Given the description of an element on the screen output the (x, y) to click on. 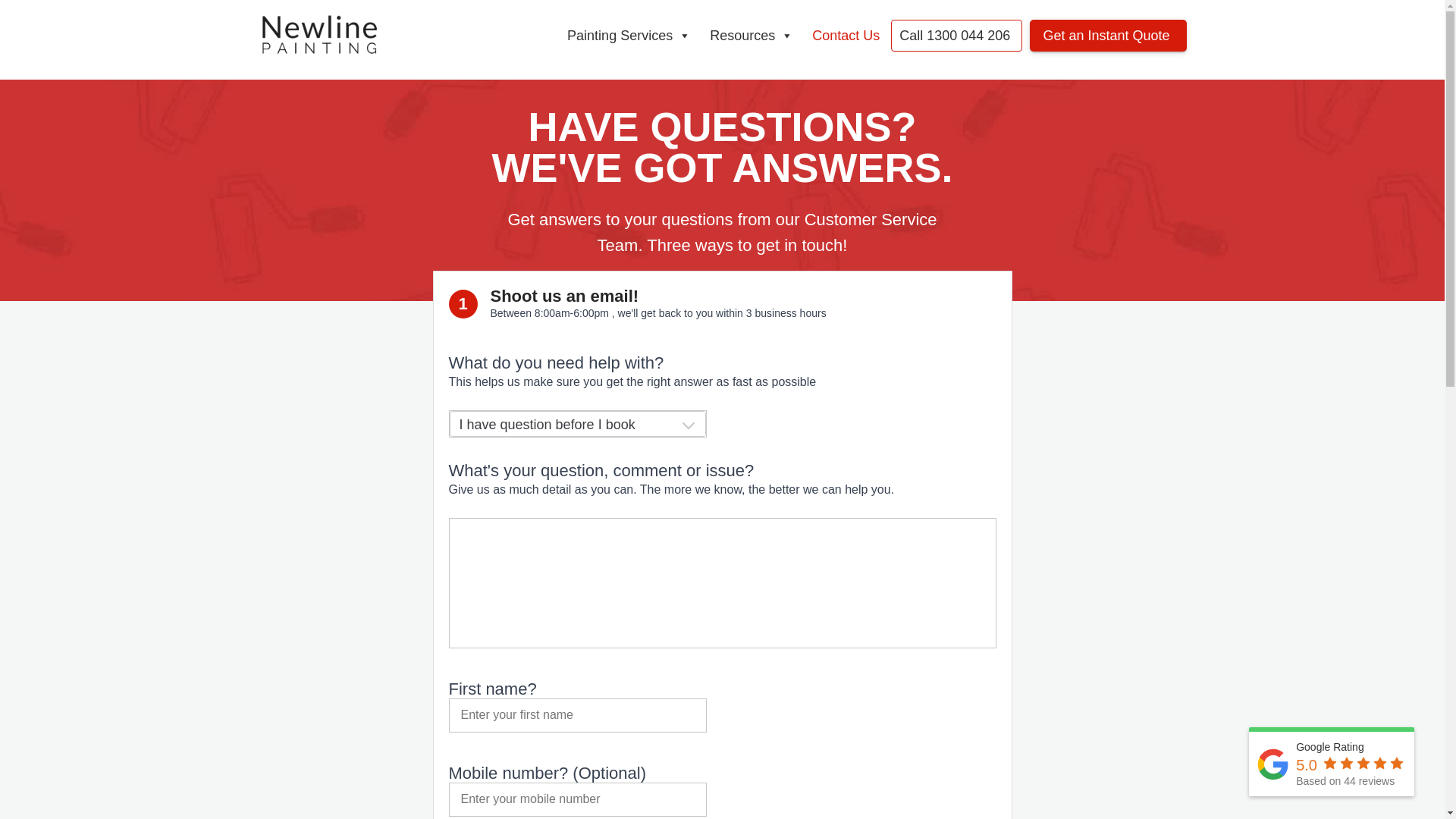
Resources Element type: text (753, 35)
Painting Services Element type: text (630, 35)
Get an Instant Quote Element type: text (1107, 35)
Call 1300 044 206 Element type: text (956, 35)
Contact Us Element type: text (847, 35)
